Given the description of an element on the screen output the (x, y) to click on. 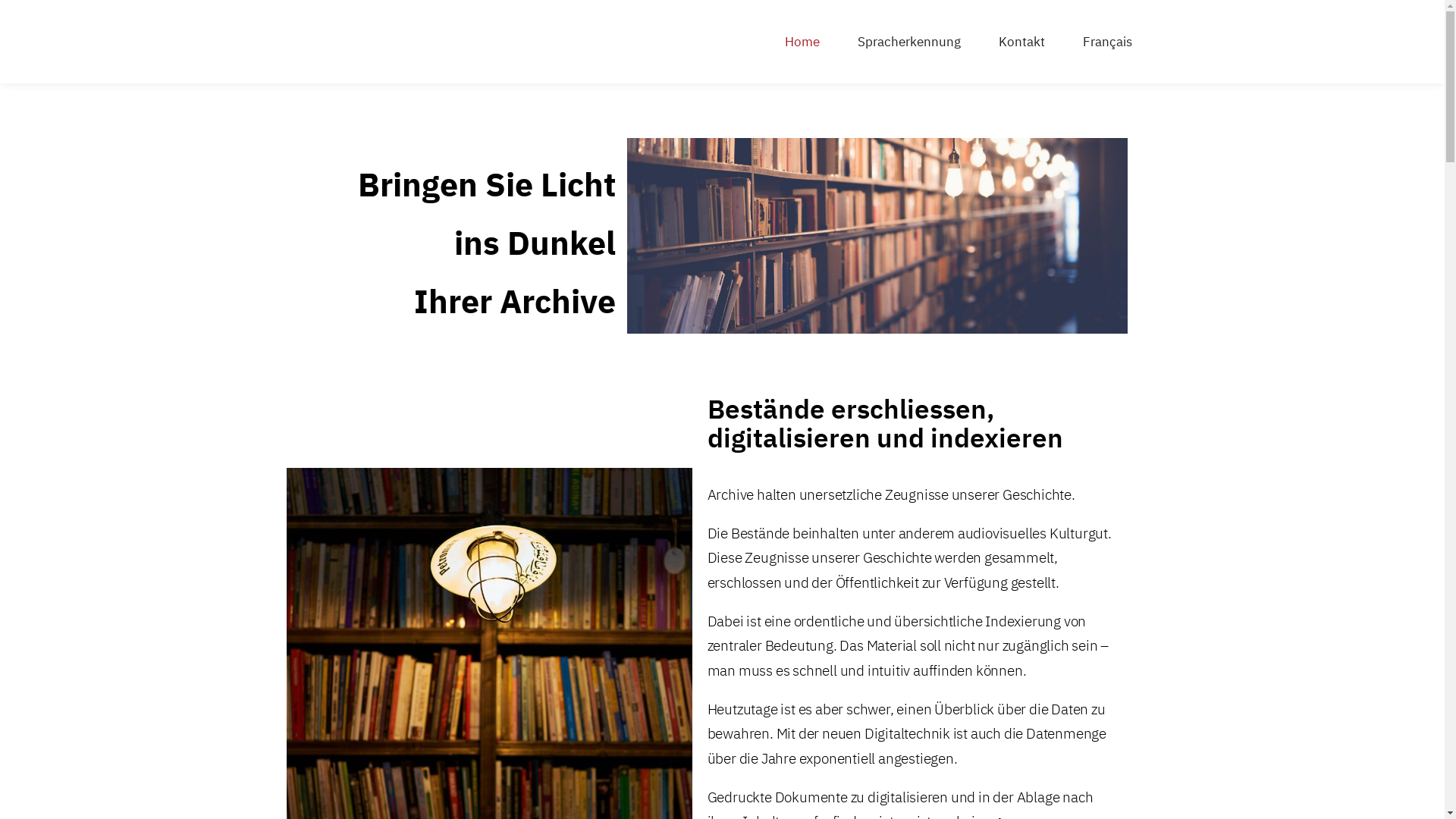
Spracherkennung Element type: text (908, 41)
Home Element type: text (801, 41)
Archiverschliessung Element type: hover (357, 41)
janko-ferlic-sfL_QOnmy00-unsplash Element type: hover (877, 235)
Kontakt Element type: text (1021, 41)
